Given the description of an element on the screen output the (x, y) to click on. 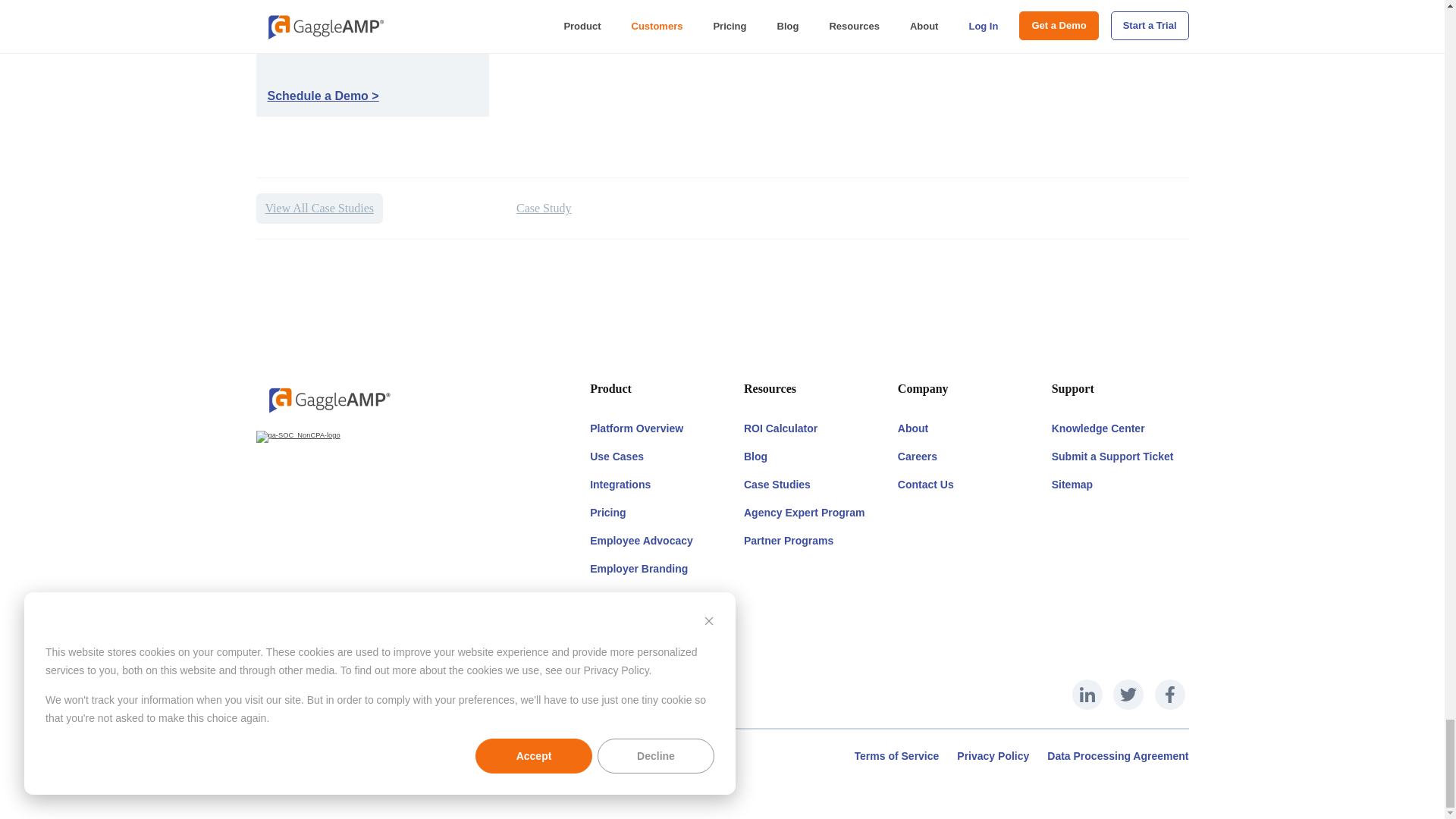
GaggleAMP Logo (327, 399)
View All Case Studies (319, 208)
Case Study (543, 208)
HubSpot Video (854, 34)
